Given the description of an element on the screen output the (x, y) to click on. 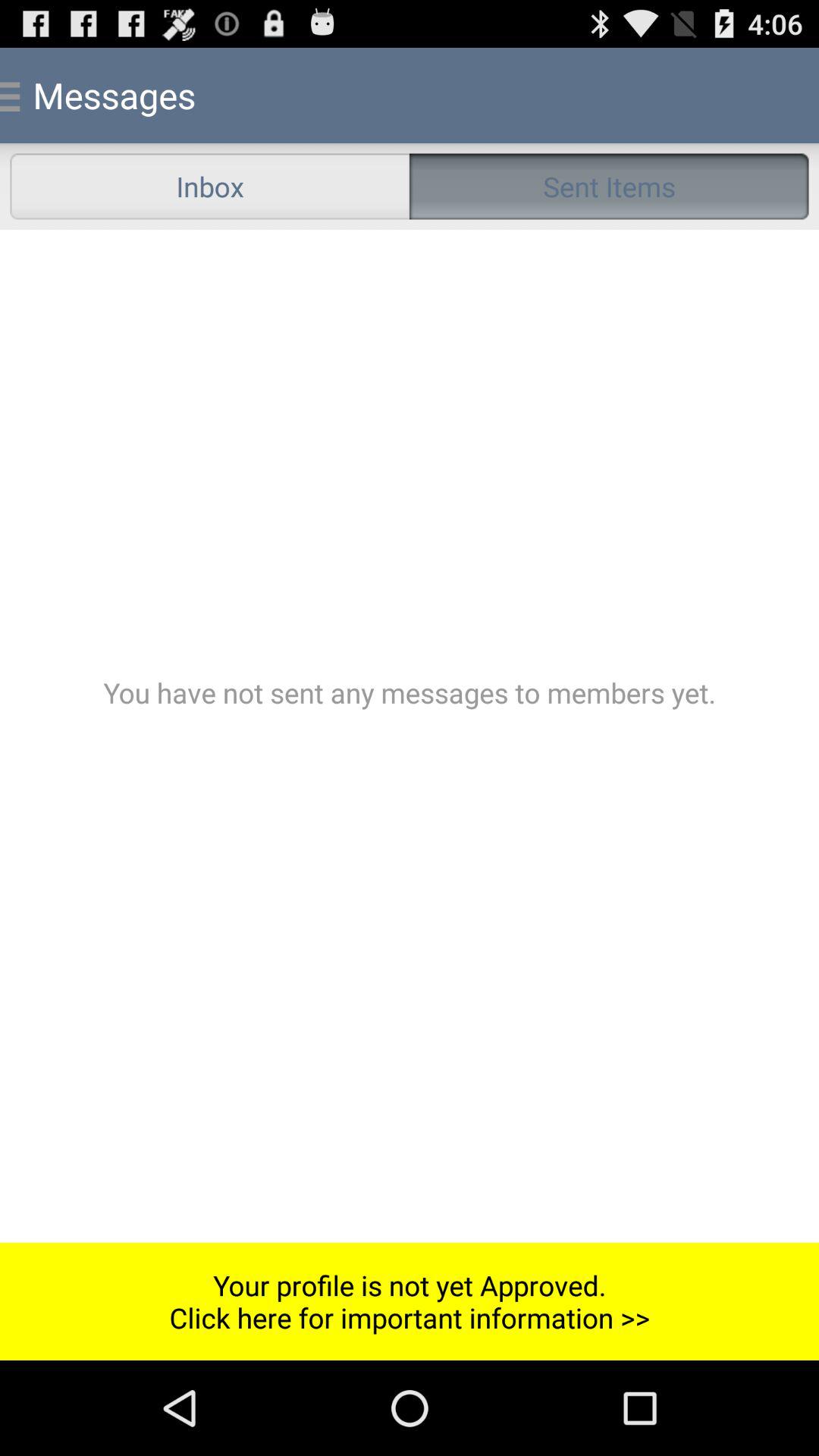
press the icon below the messages (209, 186)
